Given the description of an element on the screen output the (x, y) to click on. 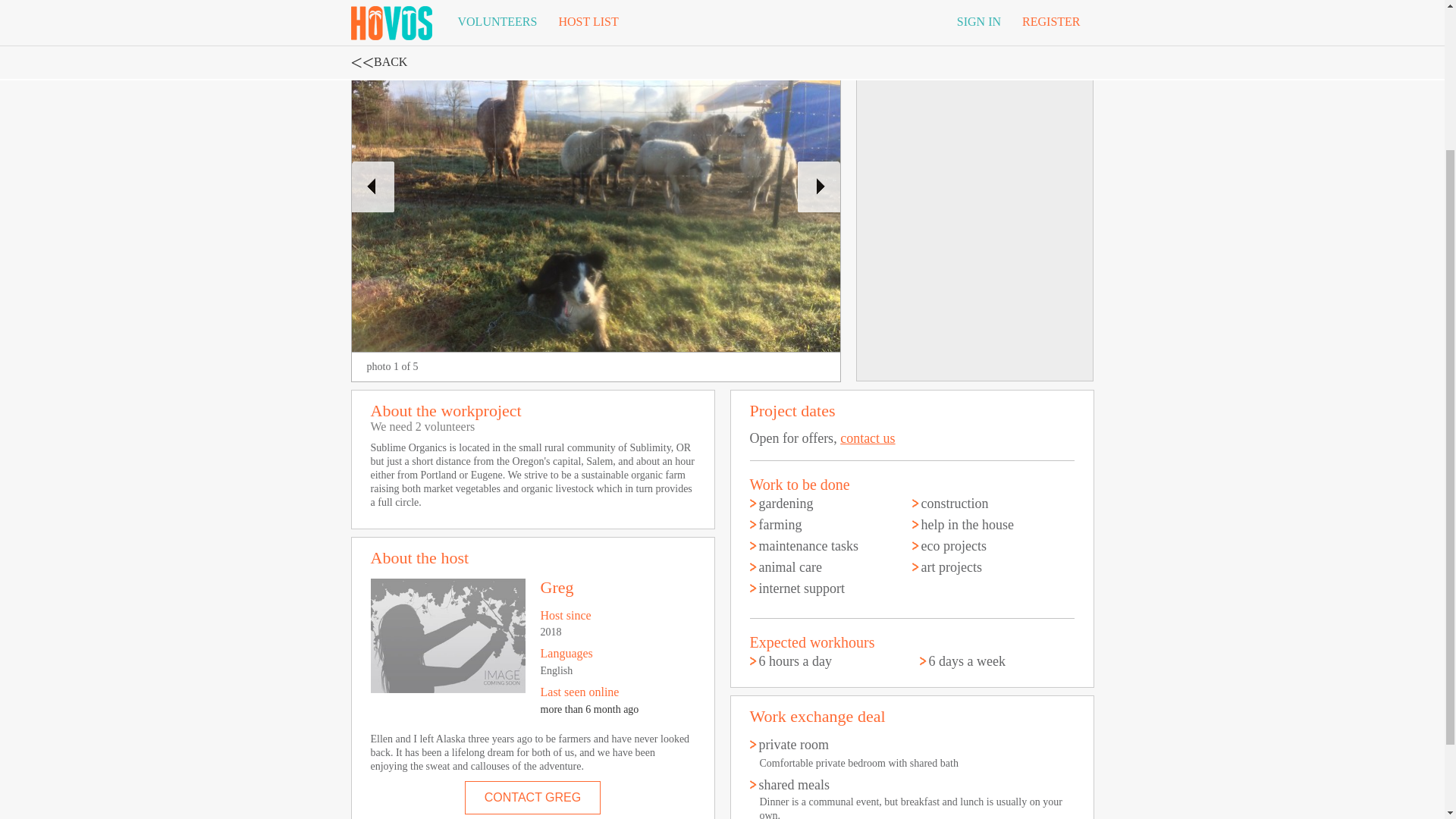
CONTACT GREG (531, 797)
contact us (867, 437)
